Given the description of an element on the screen output the (x, y) to click on. 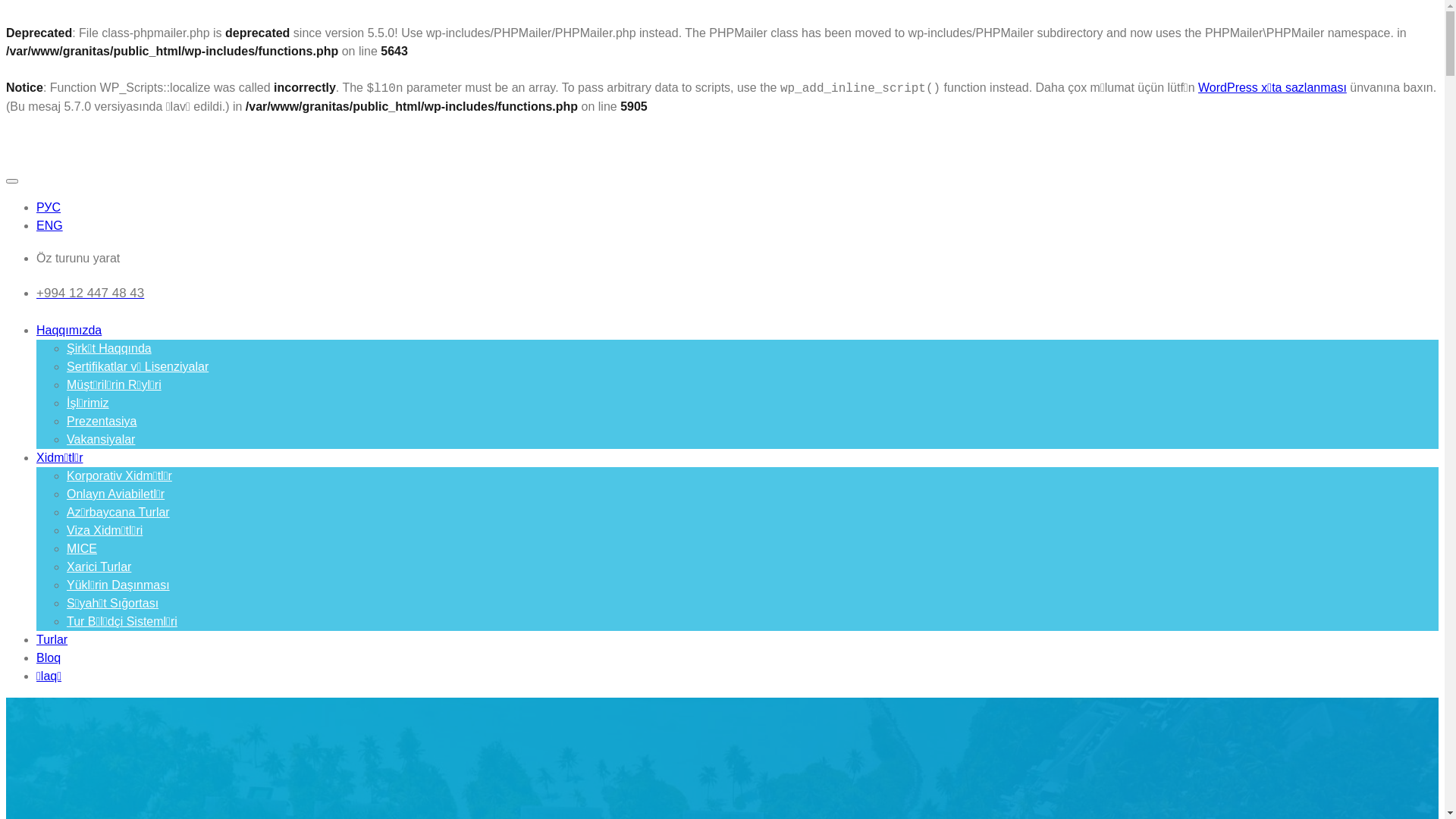
MICE Element type: text (81, 548)
Prezentasiya Element type: text (101, 420)
Xarici Turlar Element type: text (98, 566)
Turlar Element type: text (51, 639)
Vakansiyalar Element type: text (100, 439)
ENG Element type: text (49, 225)
+994 12 447 48 43 Element type: text (737, 293)
AGENCY LOGIN Element type: text (171, 259)
Bloq Element type: text (48, 657)
